Given the description of an element on the screen output the (x, y) to click on. 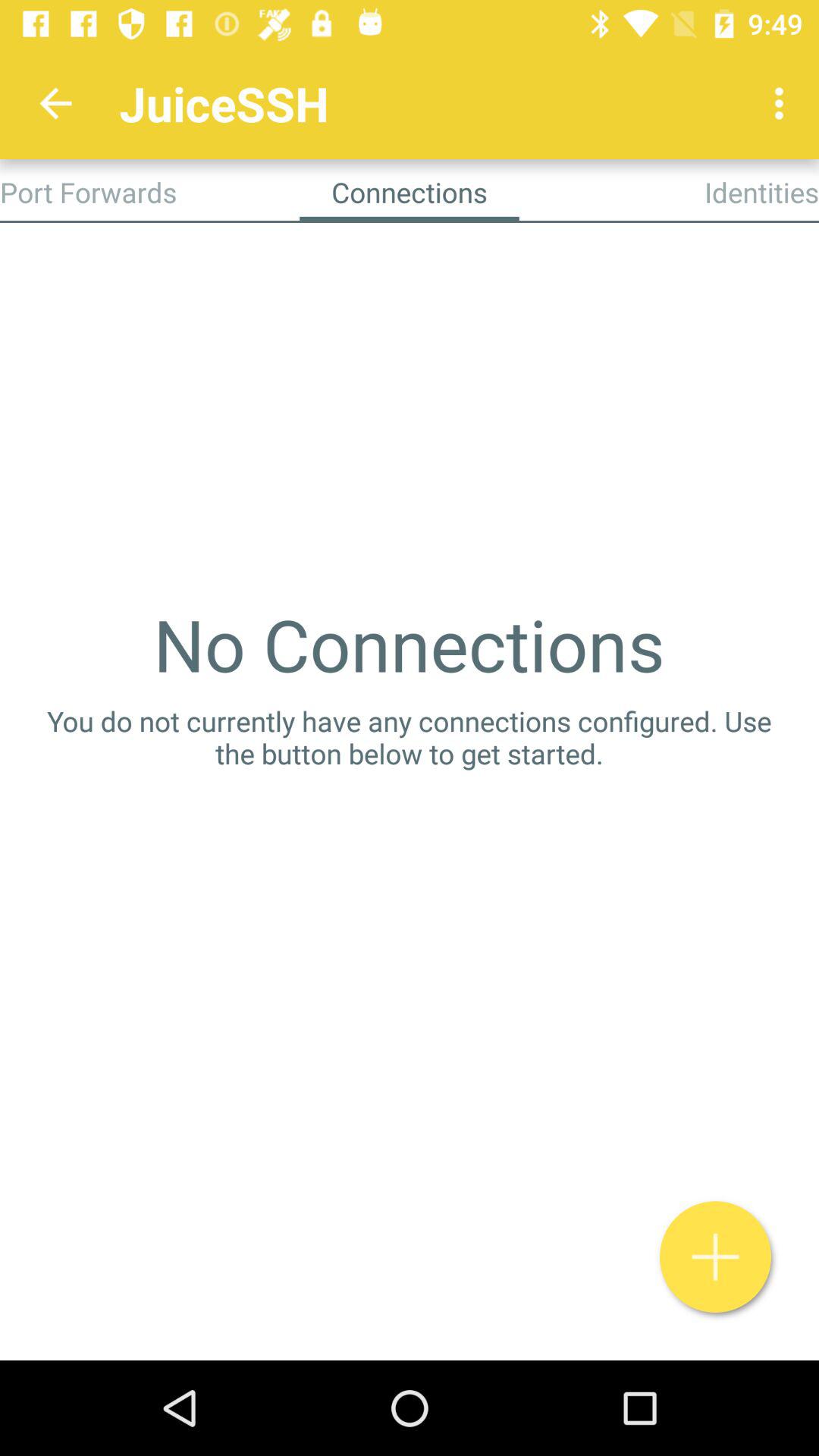
choose icon next to connections app (88, 192)
